Given the description of an element on the screen output the (x, y) to click on. 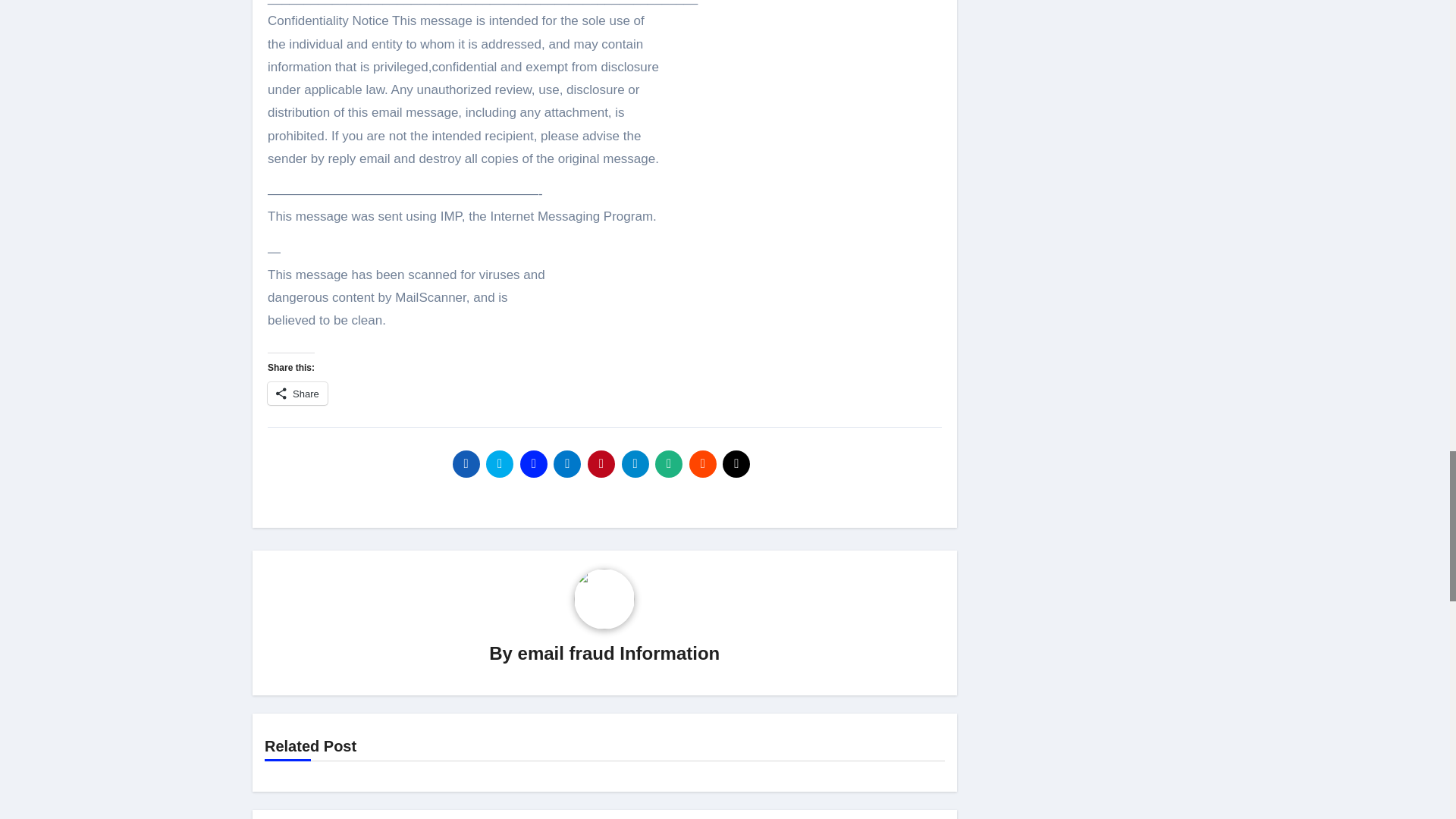
Share (297, 393)
